Given the description of an element on the screen output the (x, y) to click on. 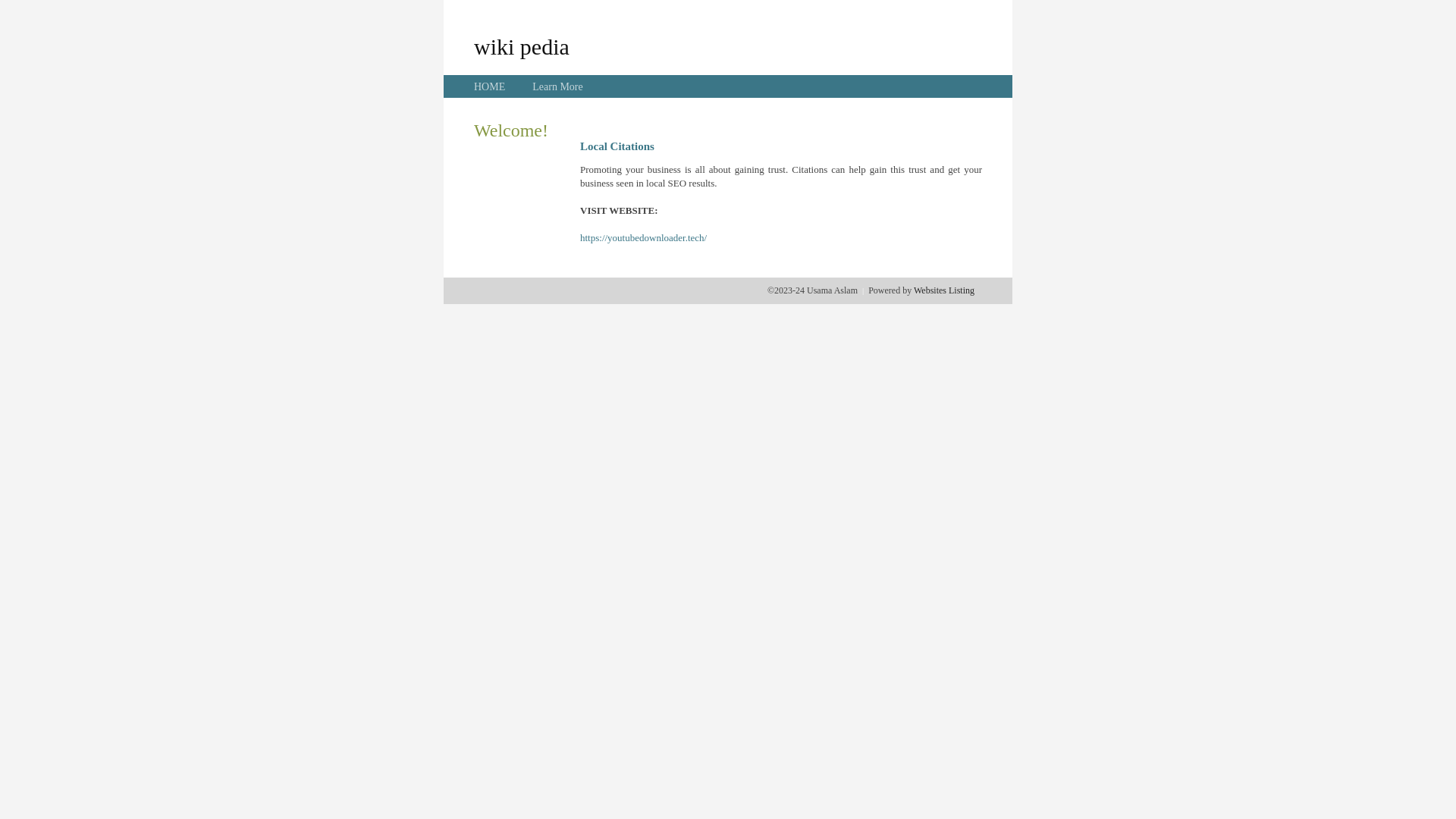
Learn More Element type: text (557, 86)
https://youtubedownloader.tech/ Element type: text (643, 237)
Websites Listing Element type: text (943, 290)
wiki pedia Element type: text (521, 46)
HOME Element type: text (489, 86)
